Given the description of an element on the screen output the (x, y) to click on. 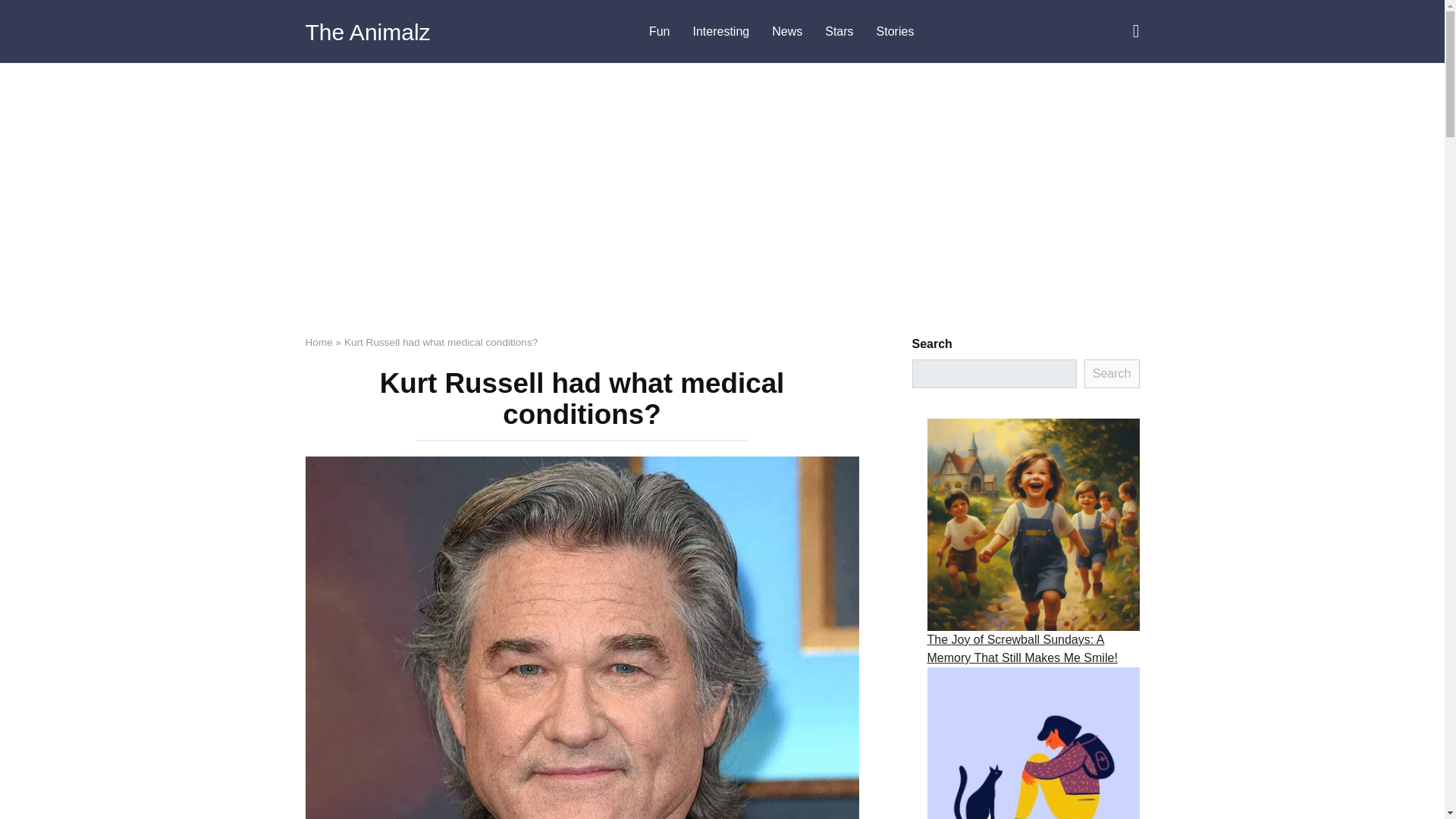
The Animalz (366, 32)
News (786, 31)
Fun (659, 31)
Search (1112, 373)
Stars (838, 31)
Interesting (720, 31)
Stories (895, 31)
Home (317, 342)
